Given the description of an element on the screen output the (x, y) to click on. 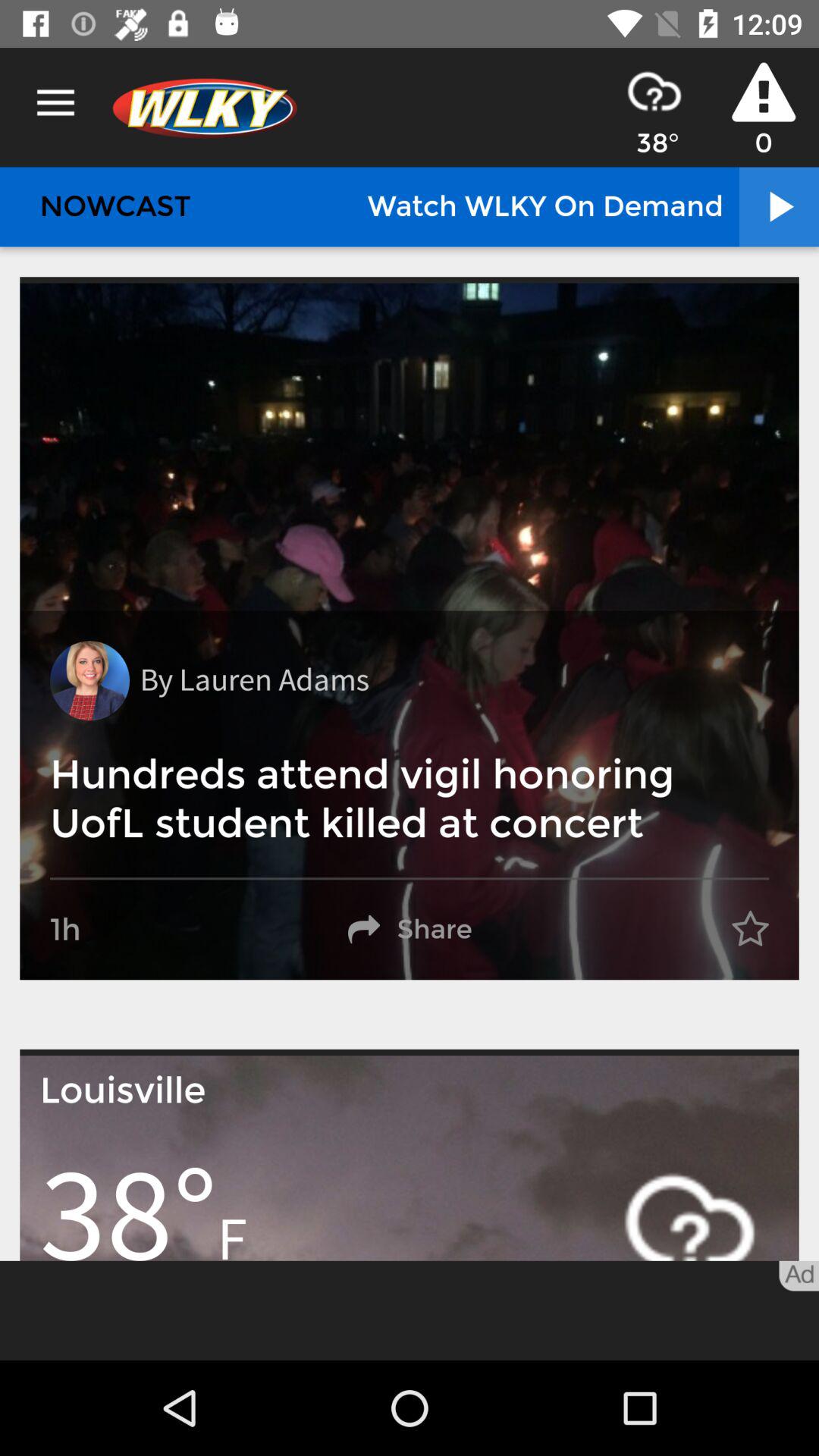
turn on icon above the nowcast icon (55, 103)
